Given the description of an element on the screen output the (x, y) to click on. 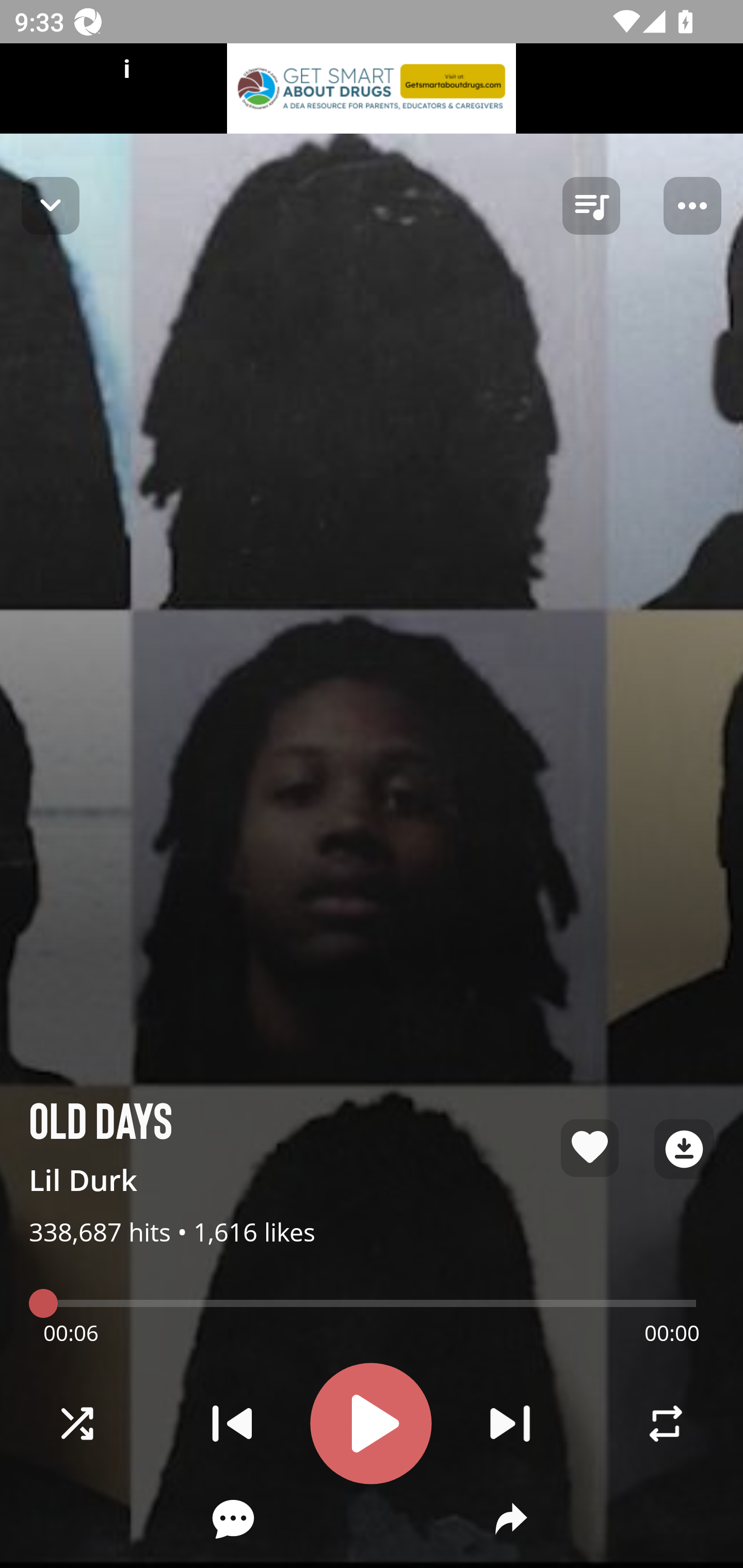
Navigate up (50, 205)
queue (590, 206)
Player options (692, 206)
